Given the description of an element on the screen output the (x, y) to click on. 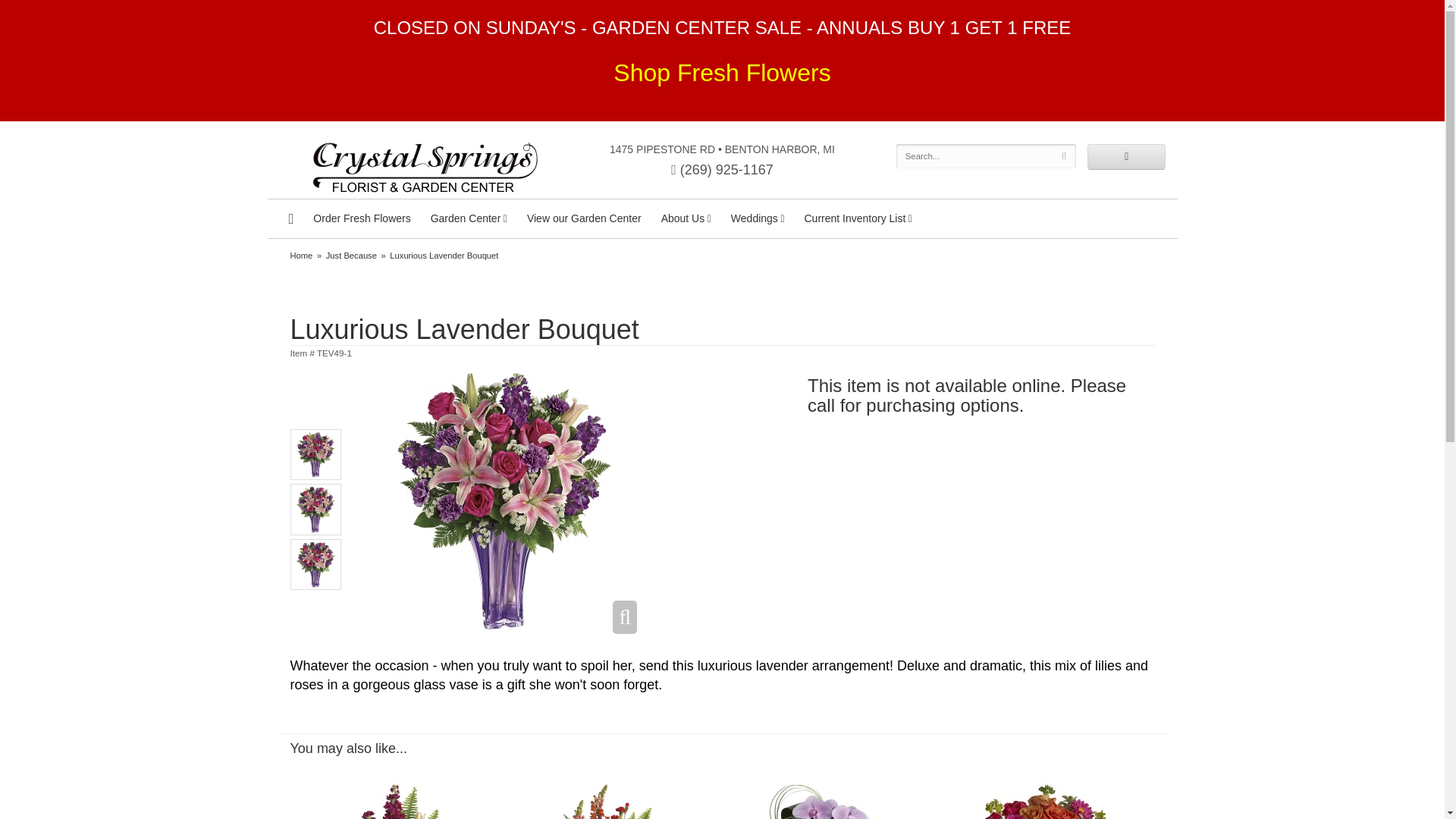
Shop Fresh Flowers (720, 77)
Current Inventory List (857, 218)
View our Garden Center (583, 218)
Garden Center (468, 218)
Home (301, 255)
Weddings (757, 218)
About Us (685, 218)
Order Fresh Flowers (361, 218)
Just Because (351, 255)
